Given the description of an element on the screen output the (x, y) to click on. 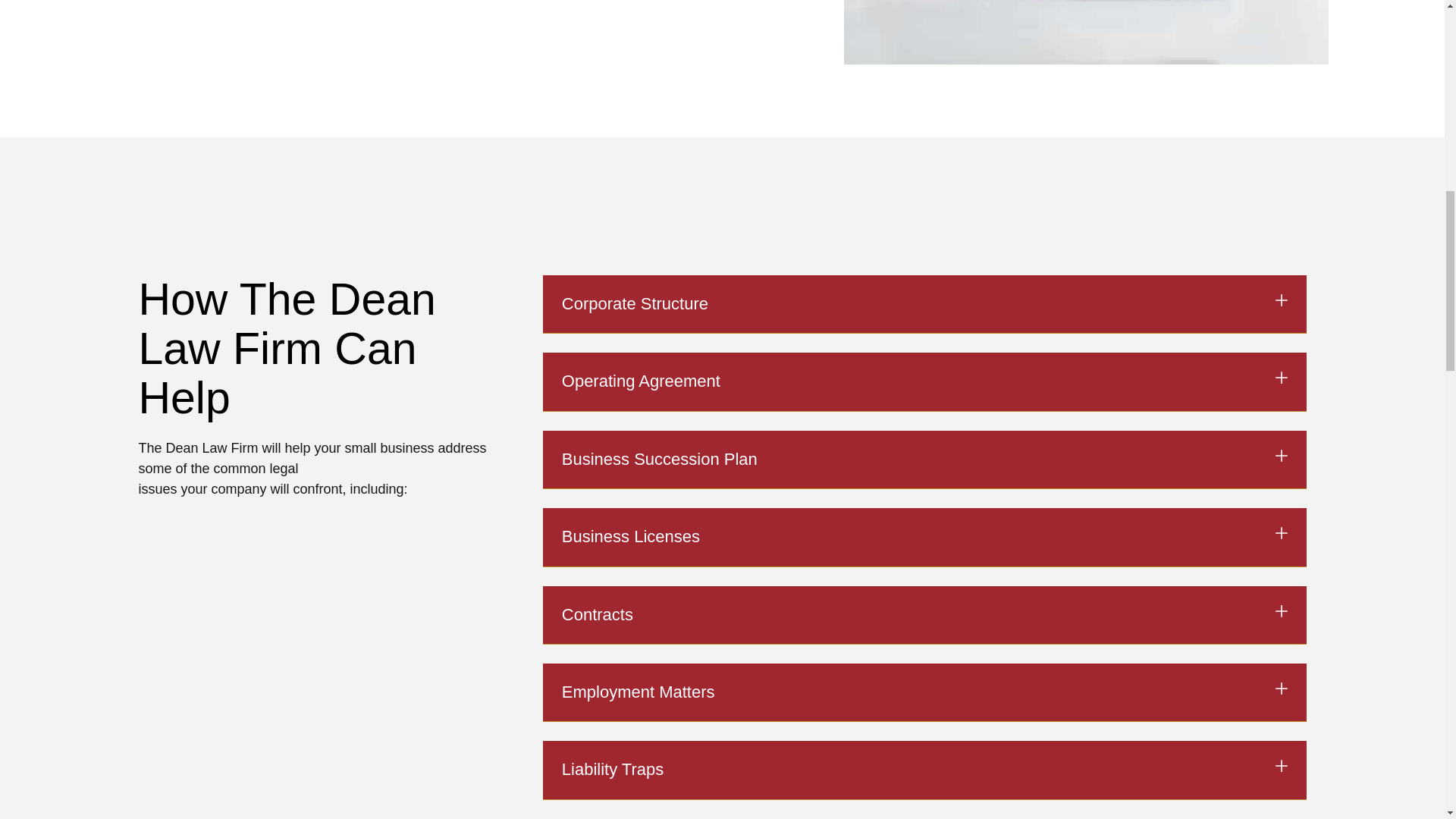
Operating Agreement (641, 380)
Business Succession Plan (659, 458)
Liability Traps (612, 769)
Business Licenses (631, 536)
Contracts (597, 614)
Corporate Structure (634, 303)
Employment Matters (638, 691)
